Given the description of an element on the screen output the (x, y) to click on. 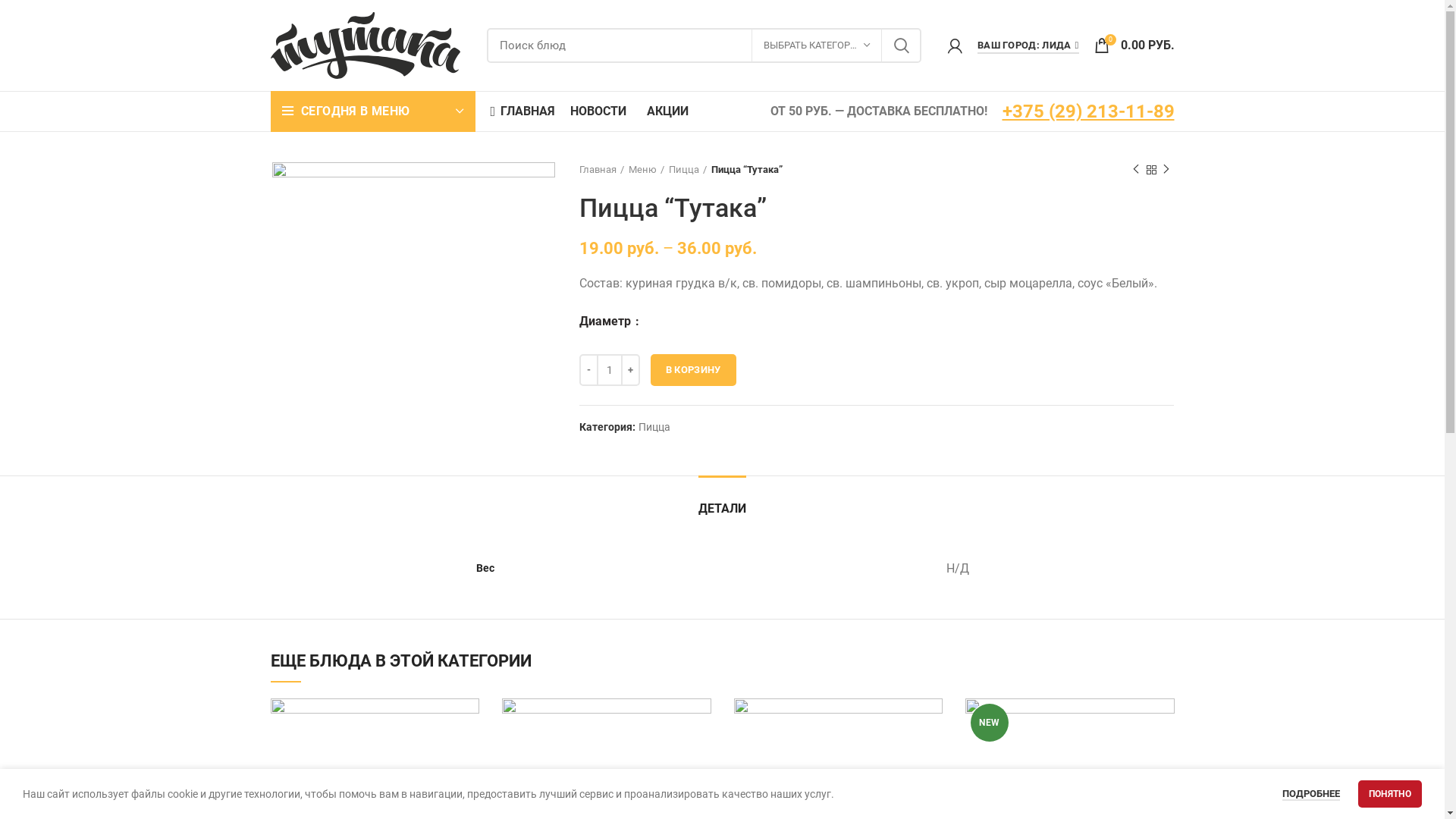
tutaka Element type: hover (412, 303)
+375 (29) 213-11-89 Element type: text (1088, 111)
